Given the description of an element on the screen output the (x, y) to click on. 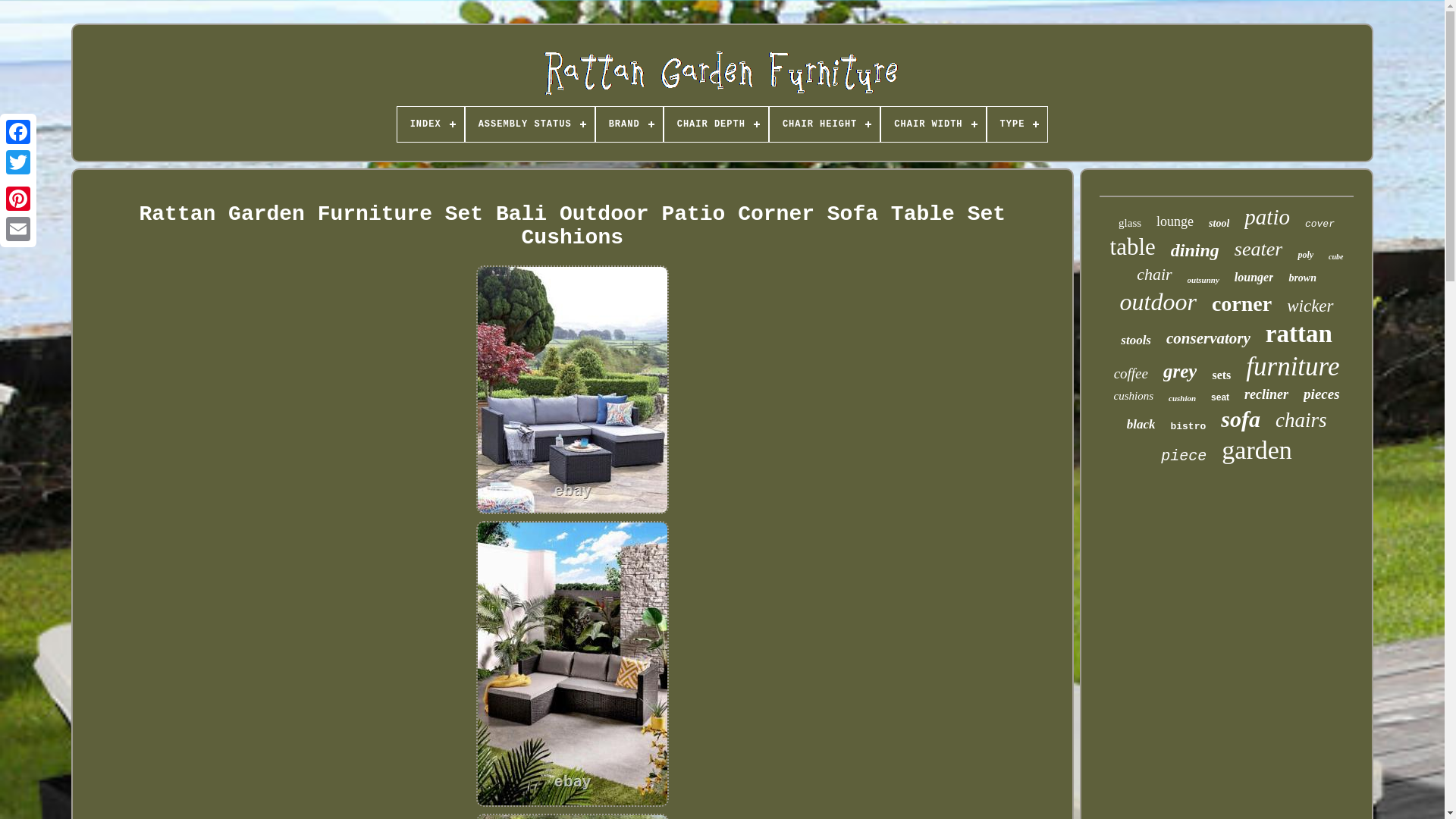
ASSEMBLY STATUS (529, 124)
CHAIR DEPTH (715, 124)
BRAND (628, 124)
Email (17, 228)
INDEX (430, 124)
